Given the description of an element on the screen output the (x, y) to click on. 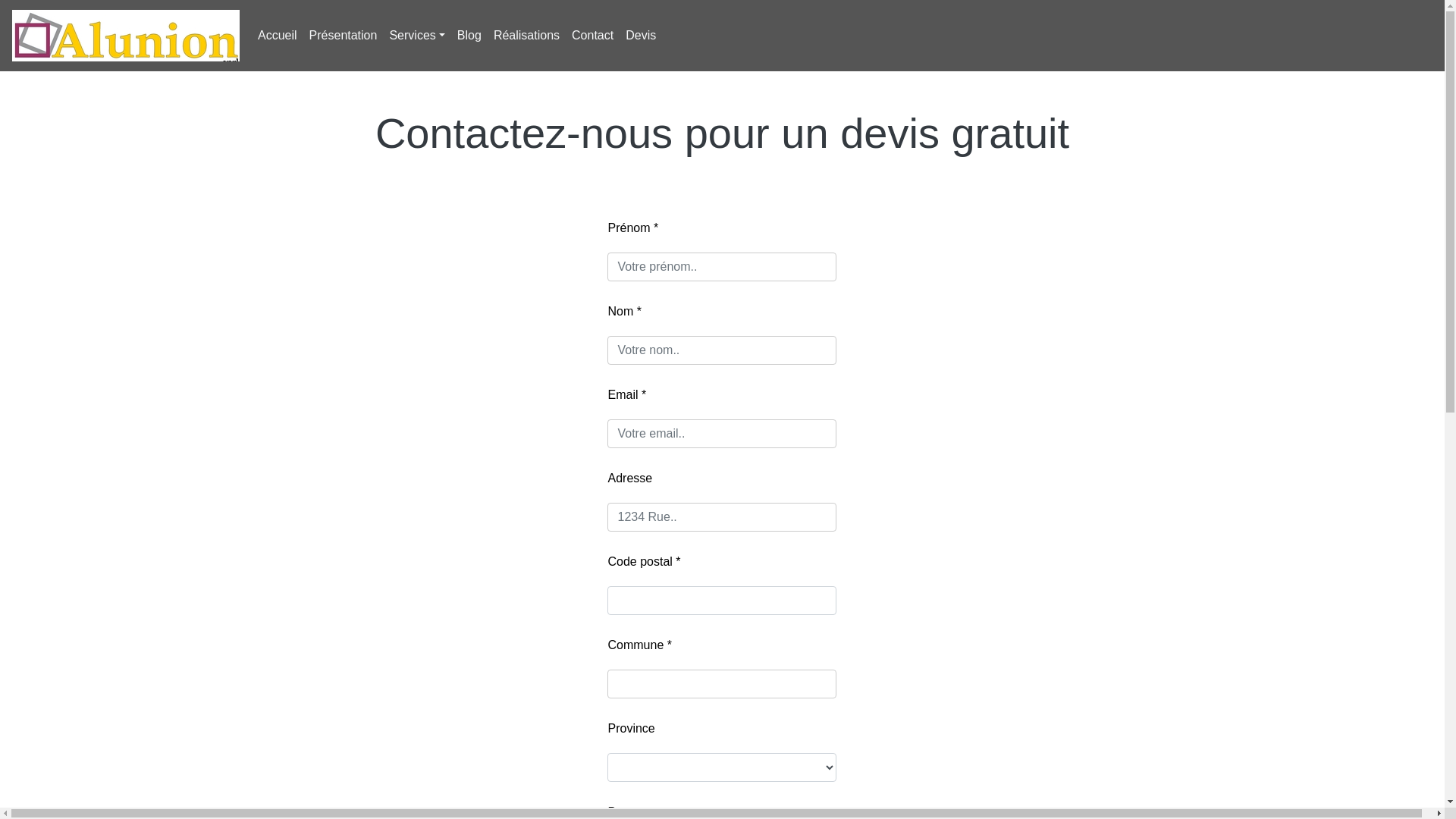
Contact Element type: text (592, 35)
Accueil Element type: text (277, 35)
Services Element type: text (416, 35)
Devis Element type: text (640, 35)
Blog Element type: text (469, 35)
